Given the description of an element on the screen output the (x, y) to click on. 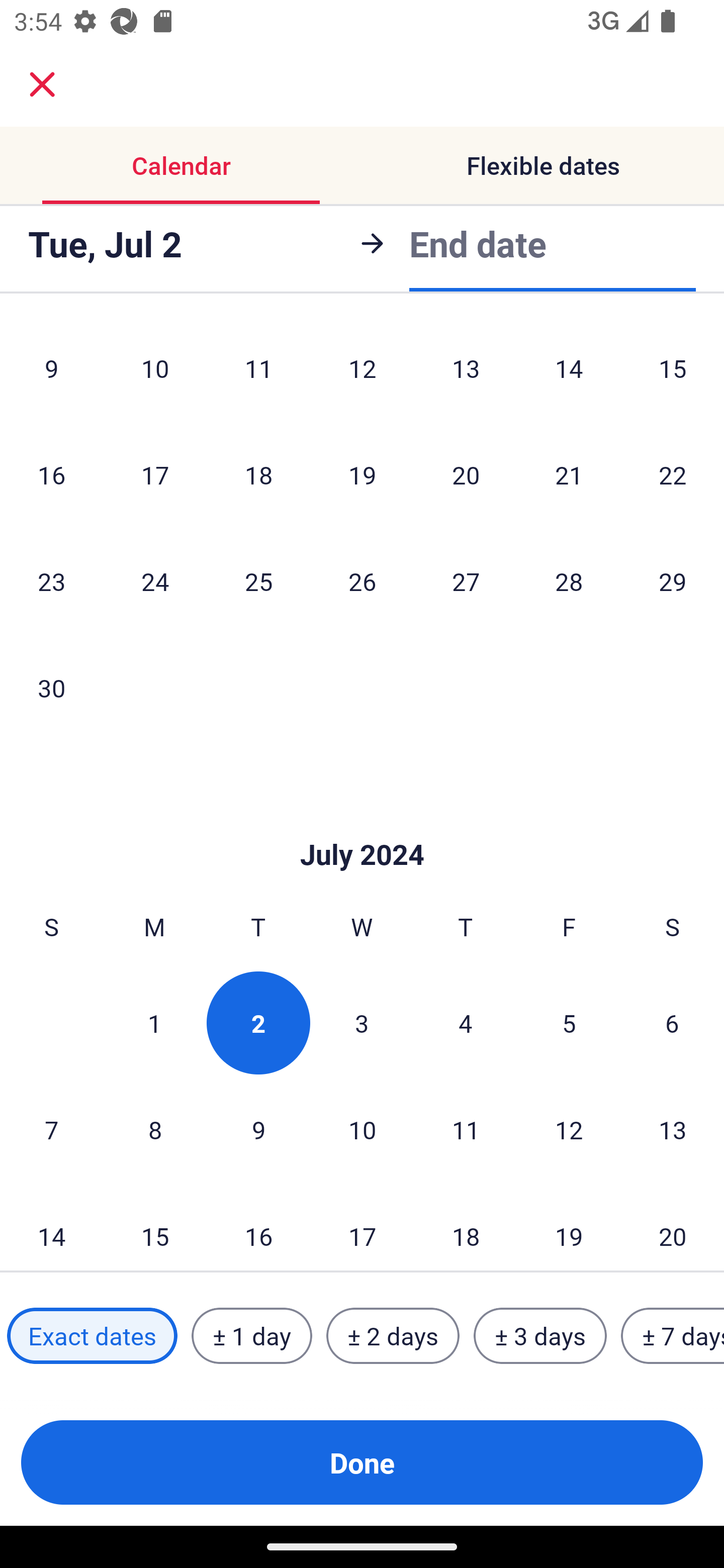
close. (42, 84)
Flexible dates (542, 164)
End date (477, 243)
9 Sunday, June 9, 2024 (51, 370)
10 Monday, June 10, 2024 (155, 370)
11 Tuesday, June 11, 2024 (258, 370)
12 Wednesday, June 12, 2024 (362, 370)
13 Thursday, June 13, 2024 (465, 370)
14 Friday, June 14, 2024 (569, 370)
15 Saturday, June 15, 2024 (672, 370)
16 Sunday, June 16, 2024 (51, 474)
17 Monday, June 17, 2024 (155, 474)
18 Tuesday, June 18, 2024 (258, 474)
19 Wednesday, June 19, 2024 (362, 474)
20 Thursday, June 20, 2024 (465, 474)
21 Friday, June 21, 2024 (569, 474)
22 Saturday, June 22, 2024 (672, 474)
23 Sunday, June 23, 2024 (51, 581)
24 Monday, June 24, 2024 (155, 581)
25 Tuesday, June 25, 2024 (258, 581)
26 Wednesday, June 26, 2024 (362, 581)
27 Thursday, June 27, 2024 (465, 581)
28 Friday, June 28, 2024 (569, 581)
29 Saturday, June 29, 2024 (672, 581)
30 Sunday, June 30, 2024 (51, 687)
Skip to Done (362, 824)
1 Monday, July 1, 2024 (154, 1023)
3 Wednesday, July 3, 2024 (361, 1023)
4 Thursday, July 4, 2024 (465, 1023)
5 Friday, July 5, 2024 (568, 1023)
6 Saturday, July 6, 2024 (672, 1023)
7 Sunday, July 7, 2024 (51, 1129)
8 Monday, July 8, 2024 (155, 1129)
9 Tuesday, July 9, 2024 (258, 1129)
10 Wednesday, July 10, 2024 (362, 1129)
11 Thursday, July 11, 2024 (465, 1129)
12 Friday, July 12, 2024 (569, 1129)
13 Saturday, July 13, 2024 (672, 1129)
14 Sunday, July 14, 2024 (51, 1226)
15 Monday, July 15, 2024 (155, 1226)
16 Tuesday, July 16, 2024 (258, 1226)
17 Wednesday, July 17, 2024 (362, 1226)
18 Thursday, July 18, 2024 (465, 1226)
19 Friday, July 19, 2024 (569, 1226)
20 Saturday, July 20, 2024 (672, 1226)
Exact dates (92, 1335)
± 1 day (251, 1335)
± 2 days (392, 1335)
± 3 days (539, 1335)
± 7 days (672, 1335)
Done (361, 1462)
